Given the description of an element on the screen output the (x, y) to click on. 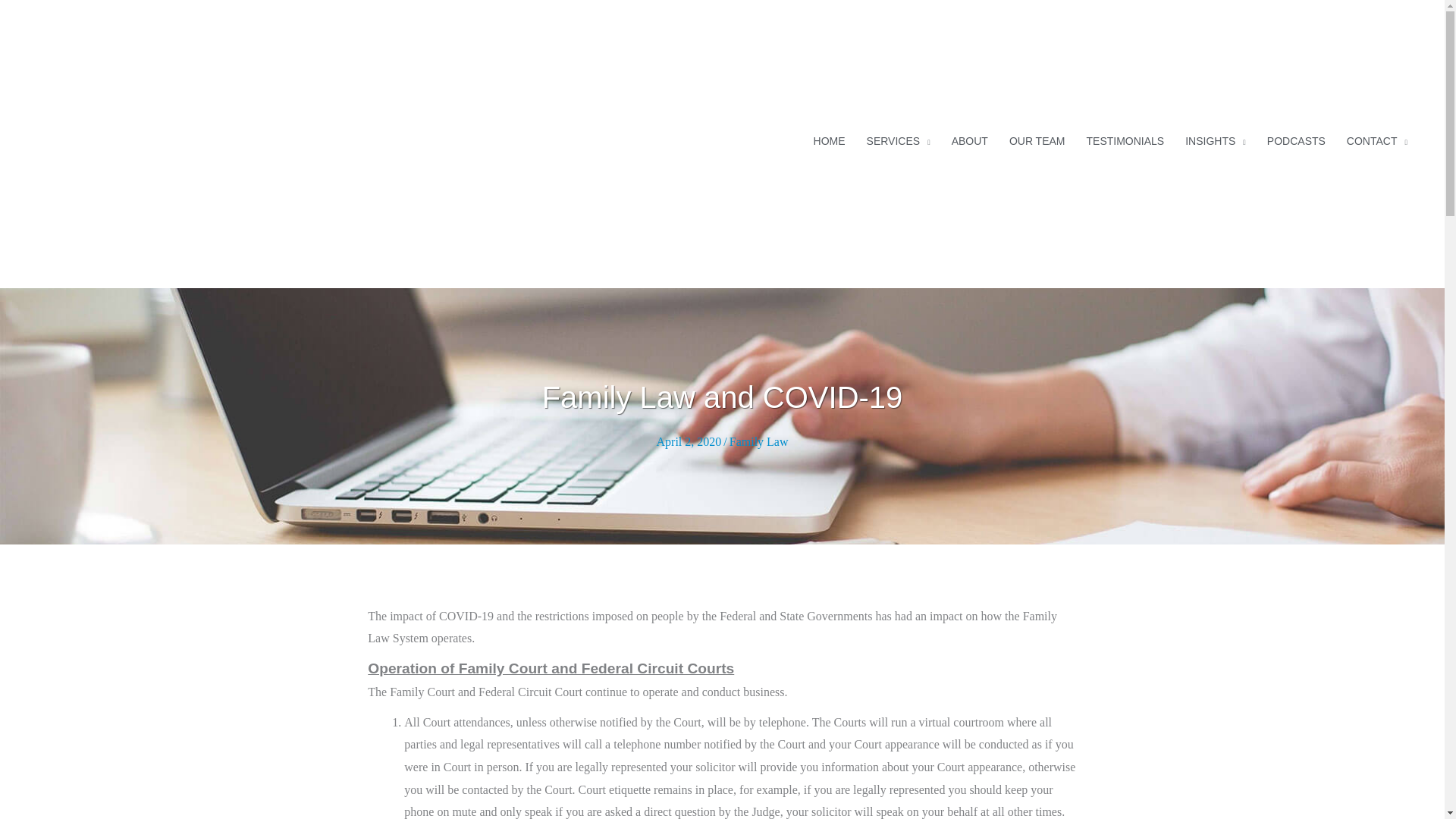
INSIGHTS (1215, 140)
SERVICES (898, 140)
HOME (829, 140)
TESTIMONIALS (1124, 140)
CONTACT (1377, 140)
ABOUT (969, 140)
PODCASTS (1296, 140)
OUR TEAM (1036, 140)
